Given the description of an element on the screen output the (x, y) to click on. 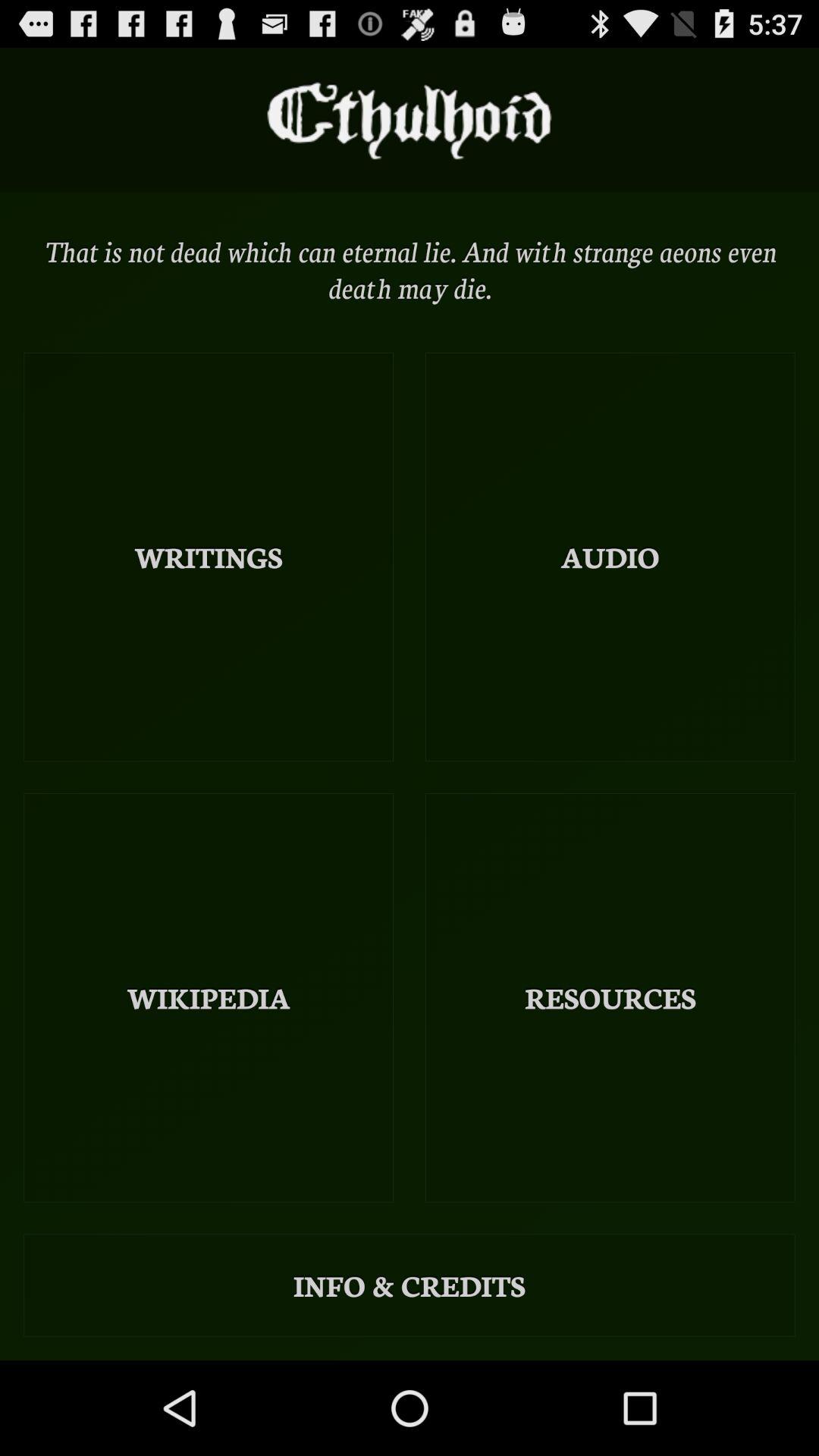
open the audio on the right (610, 556)
